Given the description of an element on the screen output the (x, y) to click on. 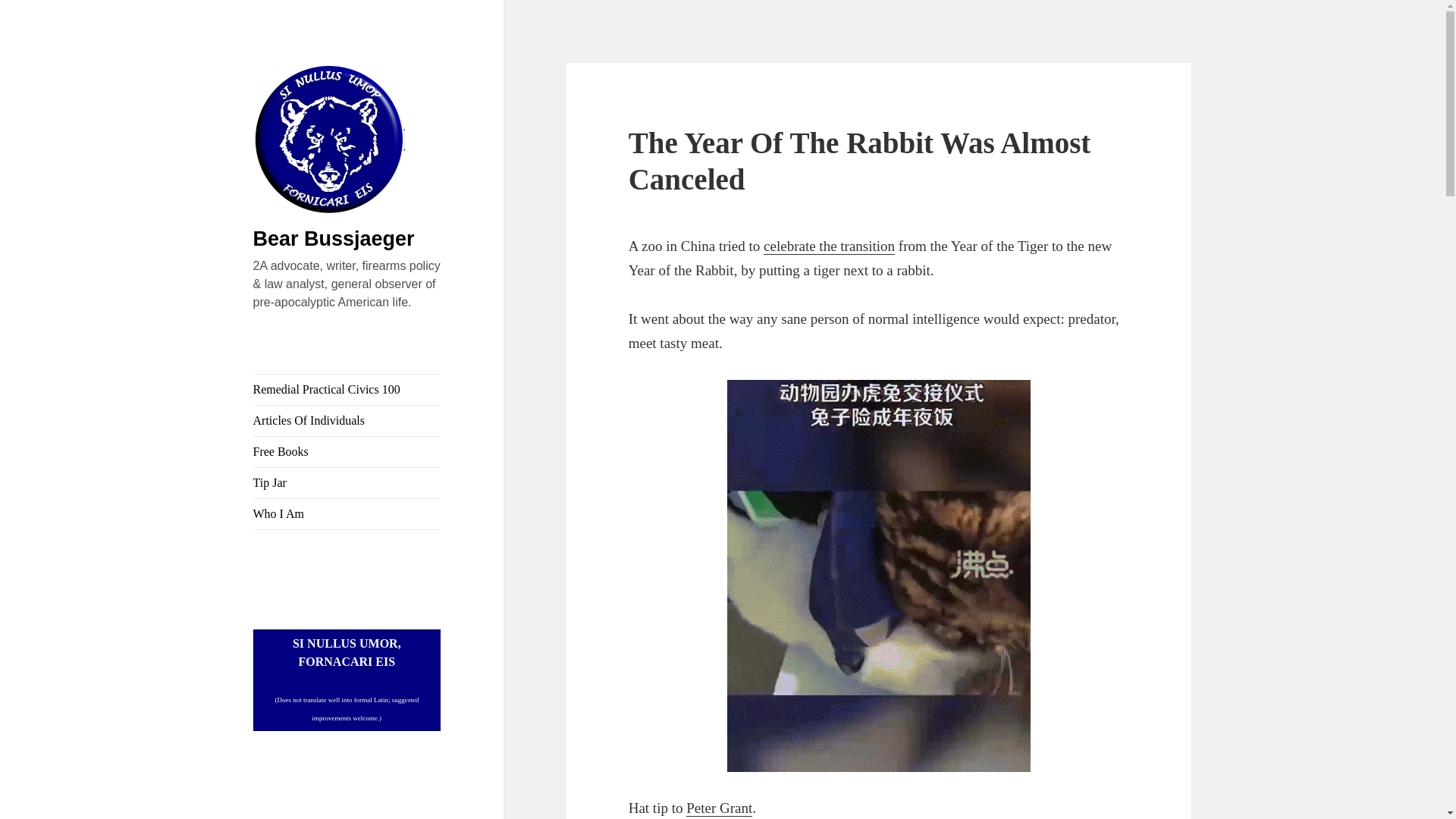
Tip Jar (347, 482)
Who I Am (347, 513)
Remedial Practical Civics 100 (347, 389)
Articles Of Individuals (347, 420)
Free Books (347, 451)
Bear Bussjaeger (333, 238)
